Given the description of an element on the screen output the (x, y) to click on. 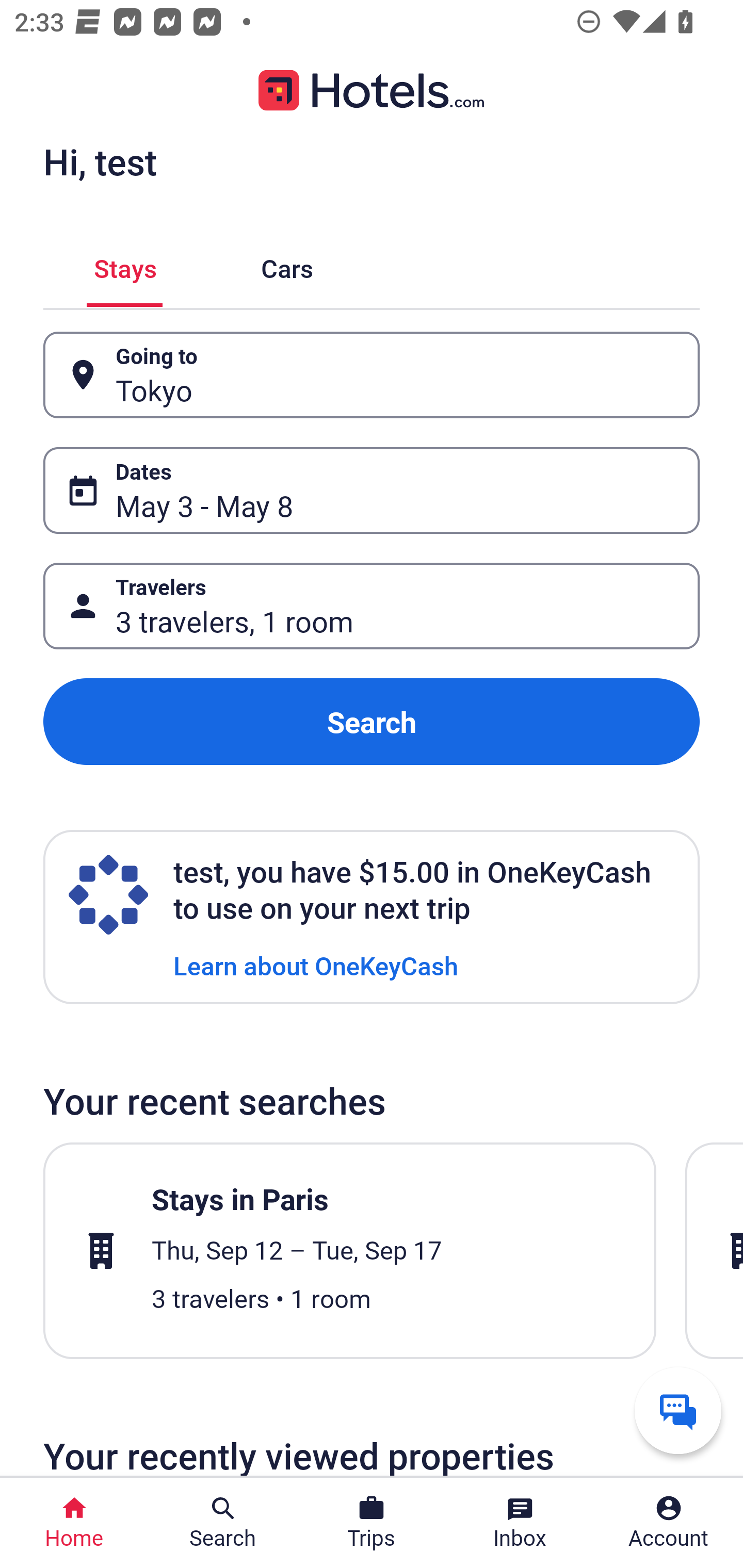
Hi, test (99, 161)
Cars (286, 265)
Going to Button Tokyo (371, 375)
Dates Button May 3 - May 8 (371, 489)
Travelers Button 3 travelers, 1 room (371, 605)
Search (371, 721)
Learn about OneKeyCash Learn about OneKeyCash Link (315, 964)
Get help from a virtual agent (677, 1410)
Search Search Button (222, 1522)
Trips Trips Button (371, 1522)
Inbox Inbox Button (519, 1522)
Account Profile. Button (668, 1522)
